Given the description of an element on the screen output the (x, y) to click on. 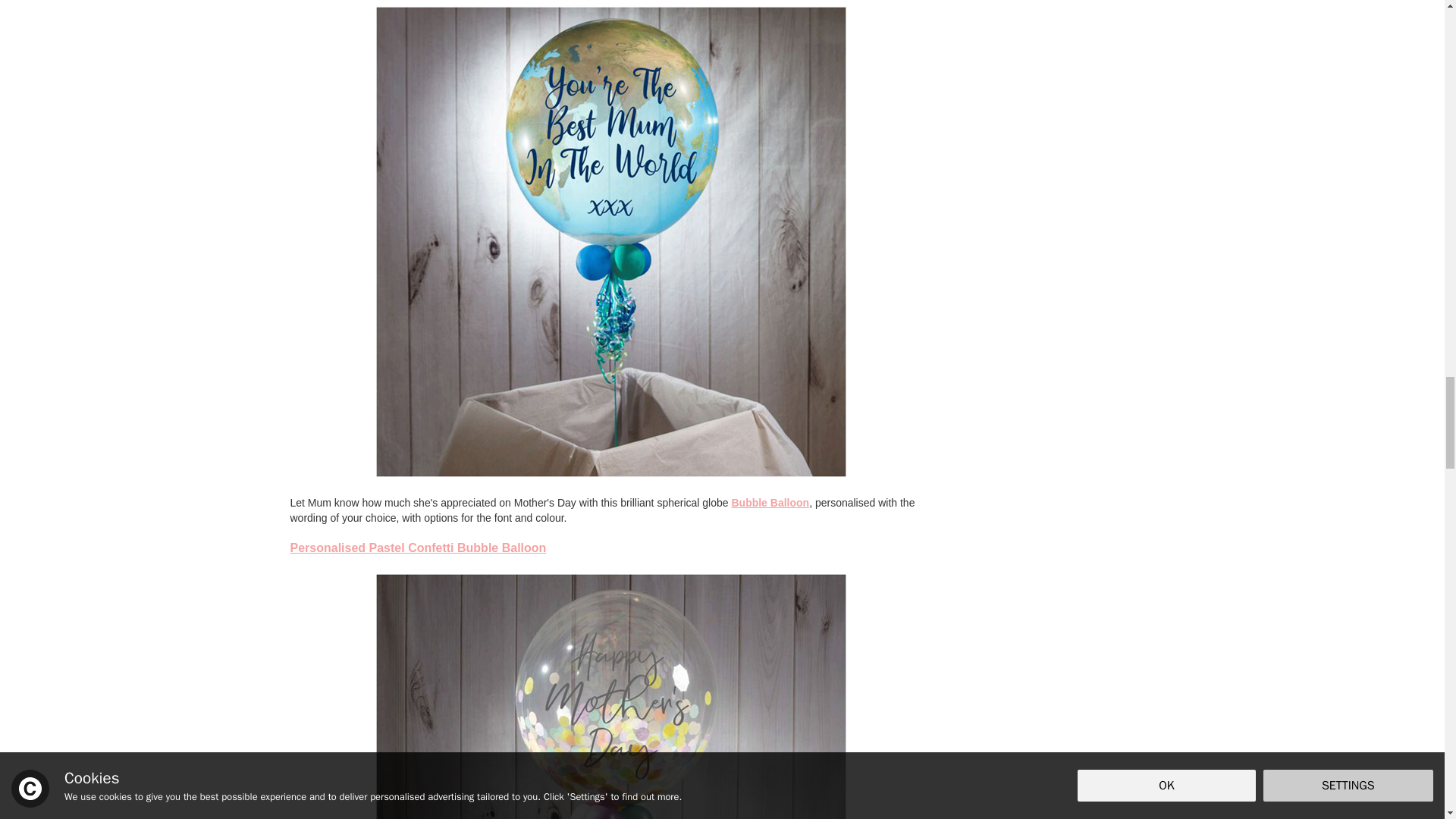
Personalised Pastel Confetti Bubble Balloon (417, 547)
Bubble Balloon (769, 502)
